Given the description of an element on the screen output the (x, y) to click on. 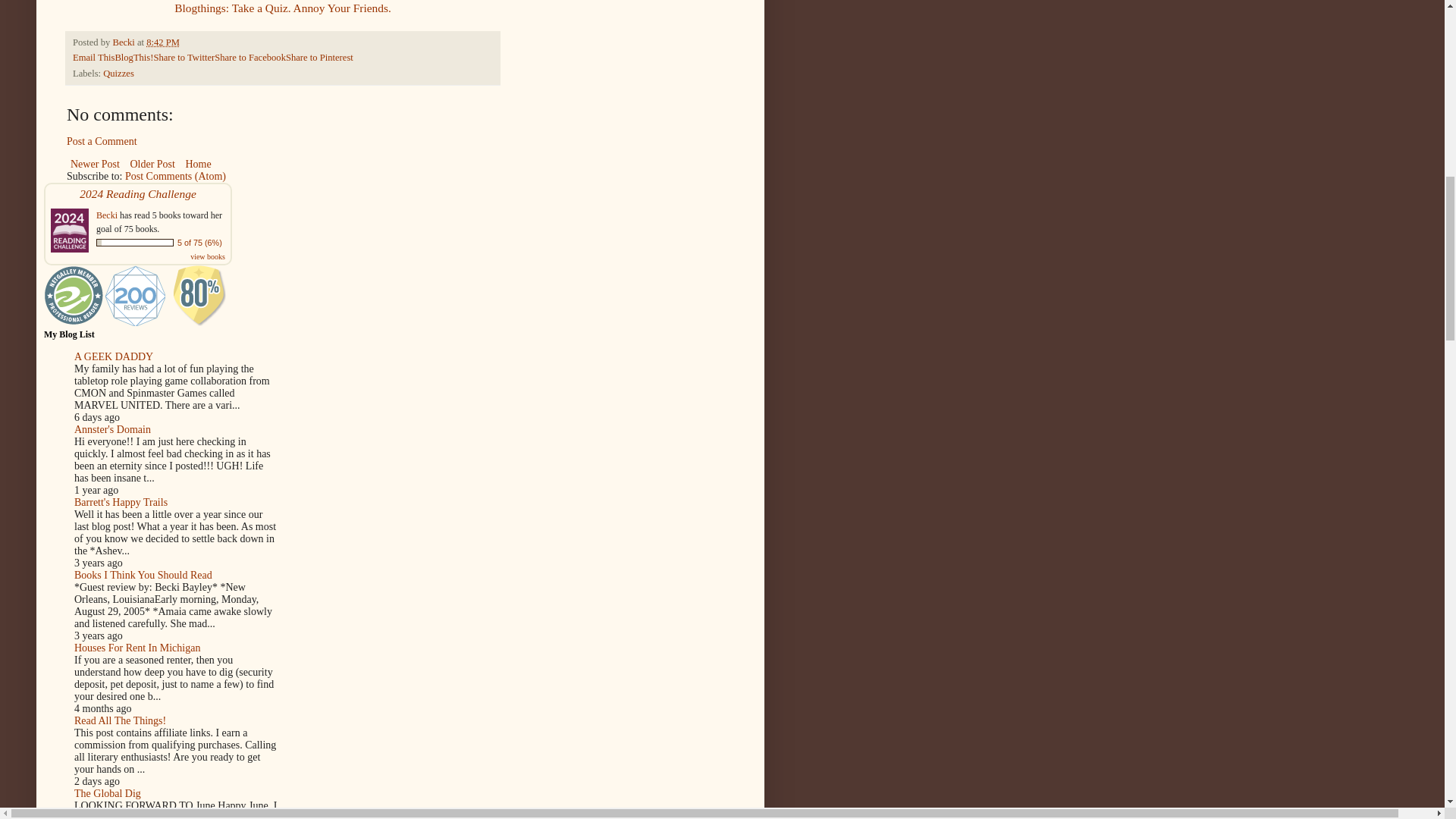
Older Post (152, 163)
BlogThis! (133, 57)
Email This (93, 57)
Share to Facebook (249, 57)
Professional Reader (73, 295)
8:42 PM (163, 41)
author profile (124, 41)
Share to Pinterest (319, 57)
Barrett's Happy Trails (120, 501)
Read All The Things! (119, 720)
permanent link (163, 41)
Newer Post (94, 163)
Share to Twitter (183, 57)
BlogThis! (133, 57)
100 Book Reviews (134, 295)
